Given the description of an element on the screen output the (x, y) to click on. 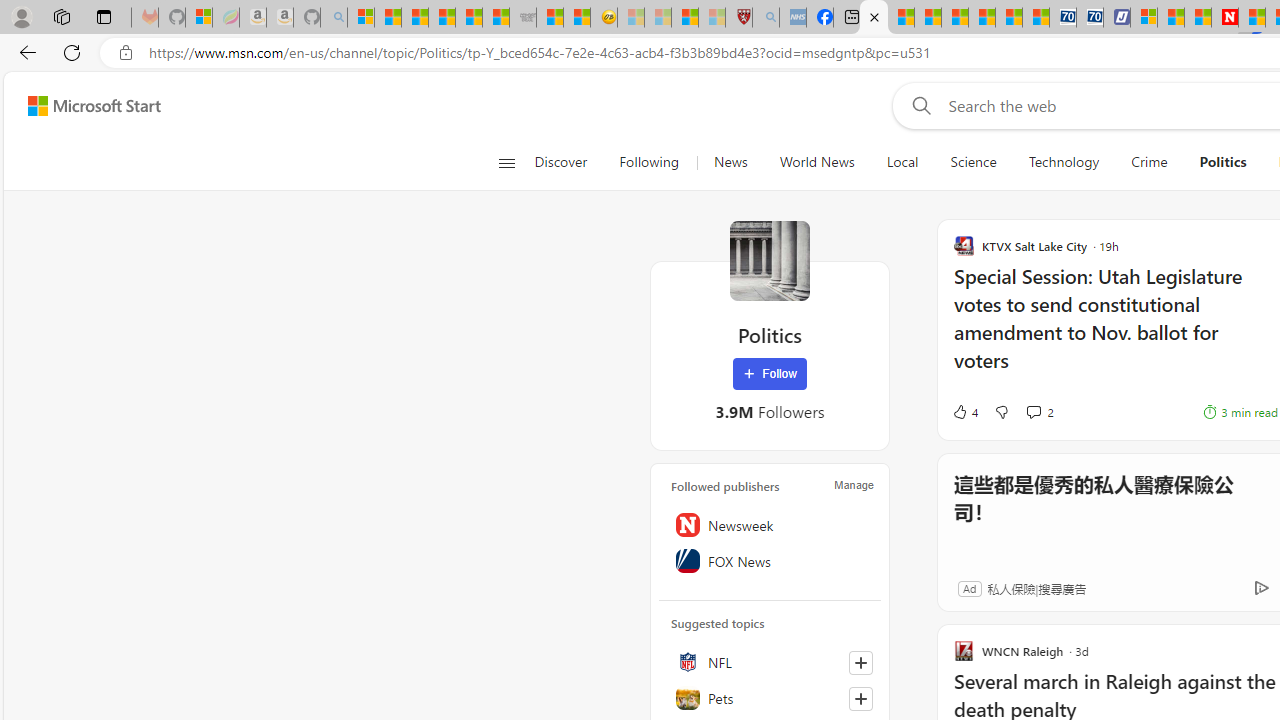
4 Like (964, 412)
Newsweek - News, Analysis, Politics, Business, Technology (1224, 17)
New Report Confirms 2023 Was Record Hot | Watch (468, 17)
